Given the description of an element on the screen output the (x, y) to click on. 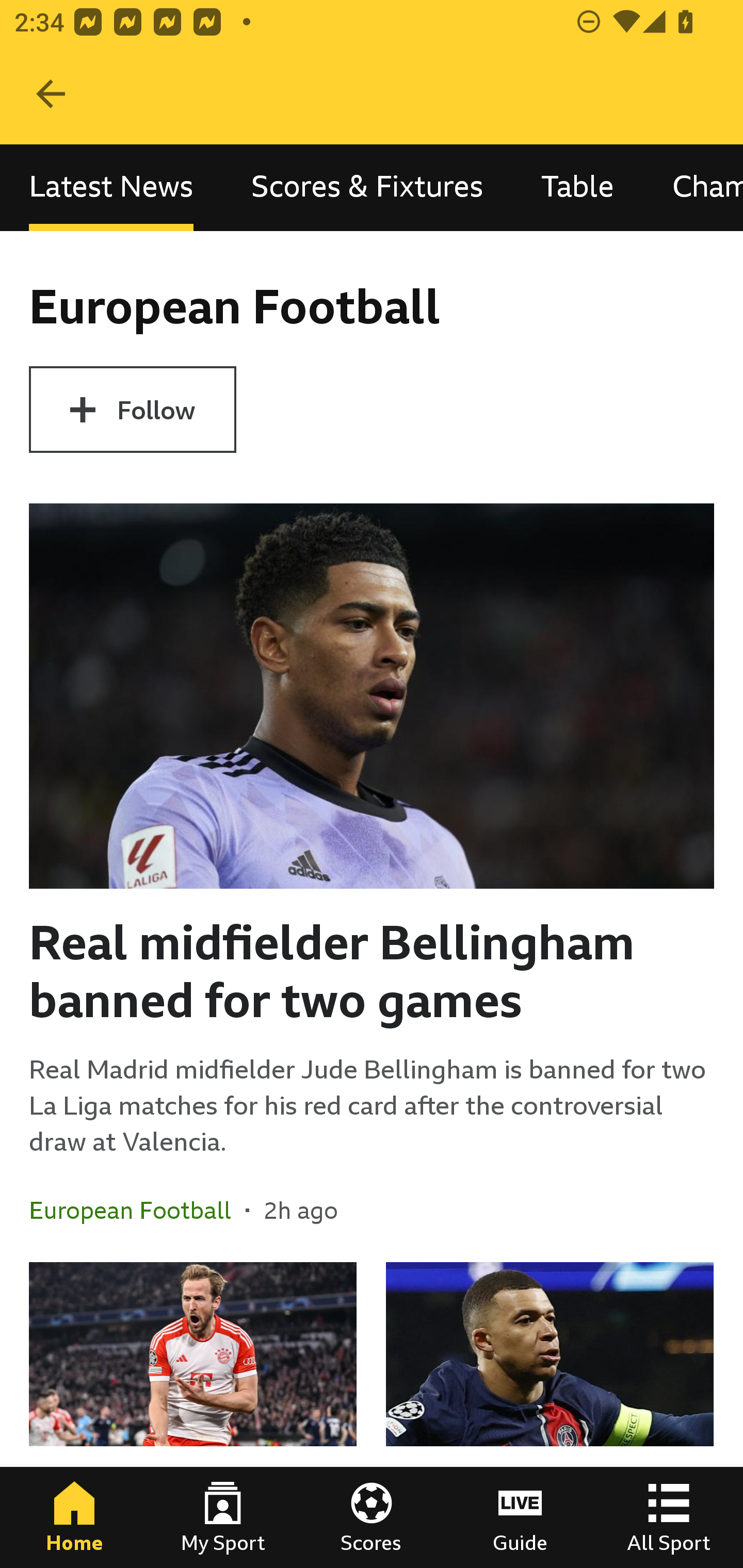
Navigate up (50, 93)
Latest News, selected Latest News (111, 187)
Scores & Fixtures (367, 187)
Table (577, 187)
Follow European Football Follow (132, 409)
Kane scores two as stylish Bayern beat Lazio (192, 1415)
Mbappe has 'no problems' with manager Enrique (549, 1415)
My Sport (222, 1517)
Scores (371, 1517)
Guide (519, 1517)
All Sport (668, 1517)
